Given the description of an element on the screen output the (x, y) to click on. 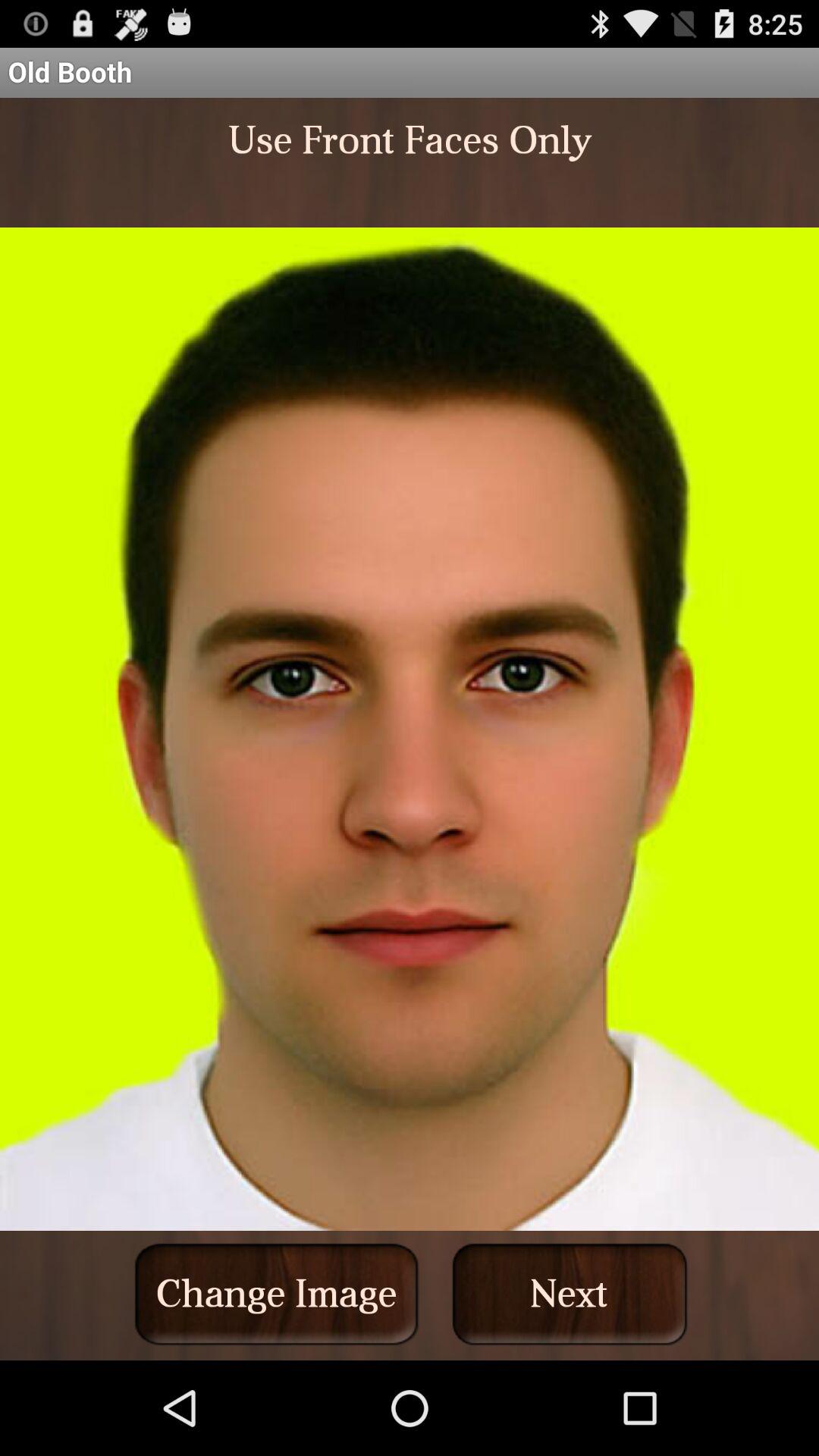
turn off the change image icon (276, 1293)
